Given the description of an element on the screen output the (x, y) to click on. 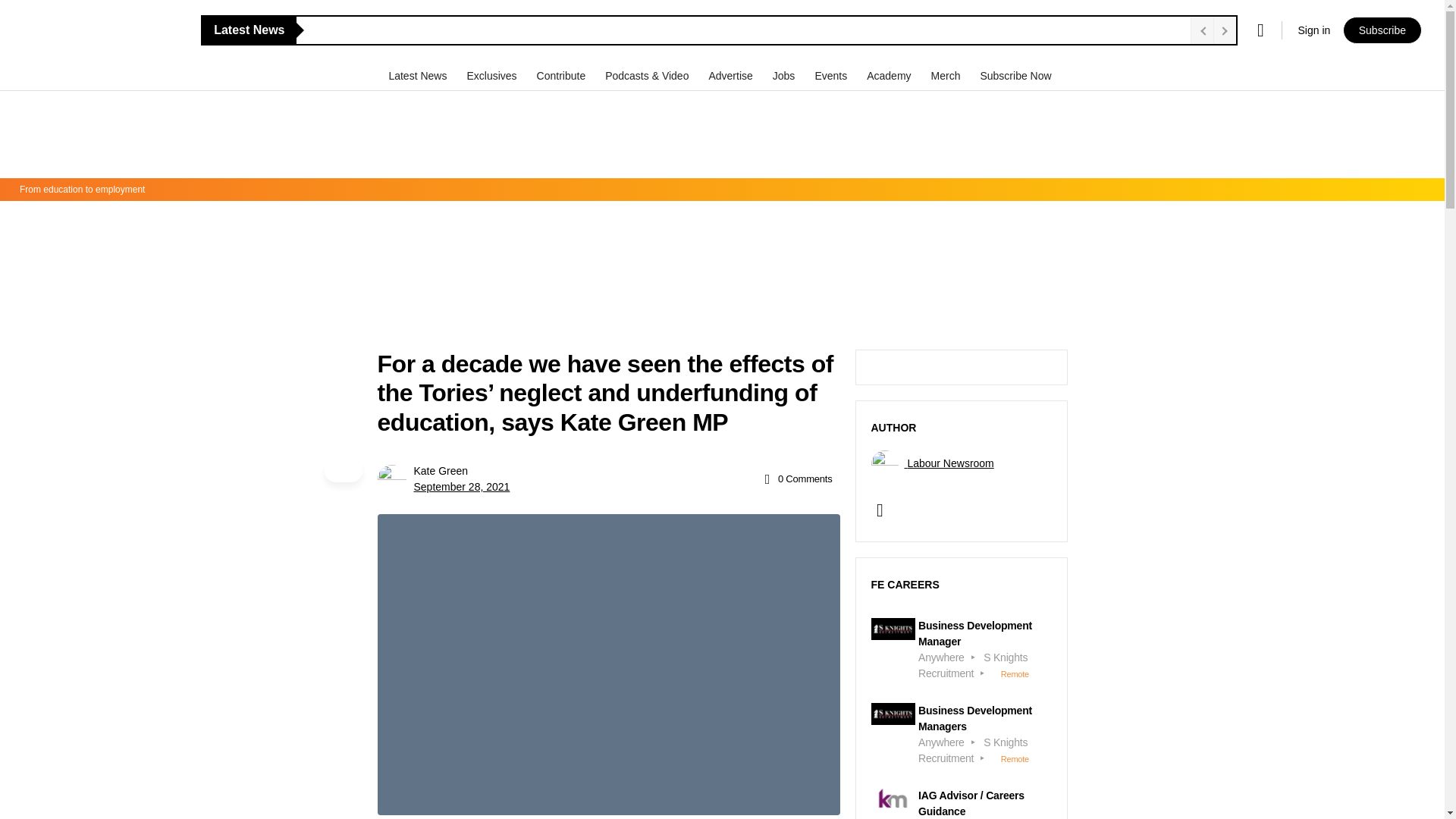
Latest News (419, 75)
Sign in (1313, 30)
Exclusives (493, 75)
Subscribe (1382, 30)
